Given the description of an element on the screen output the (x, y) to click on. 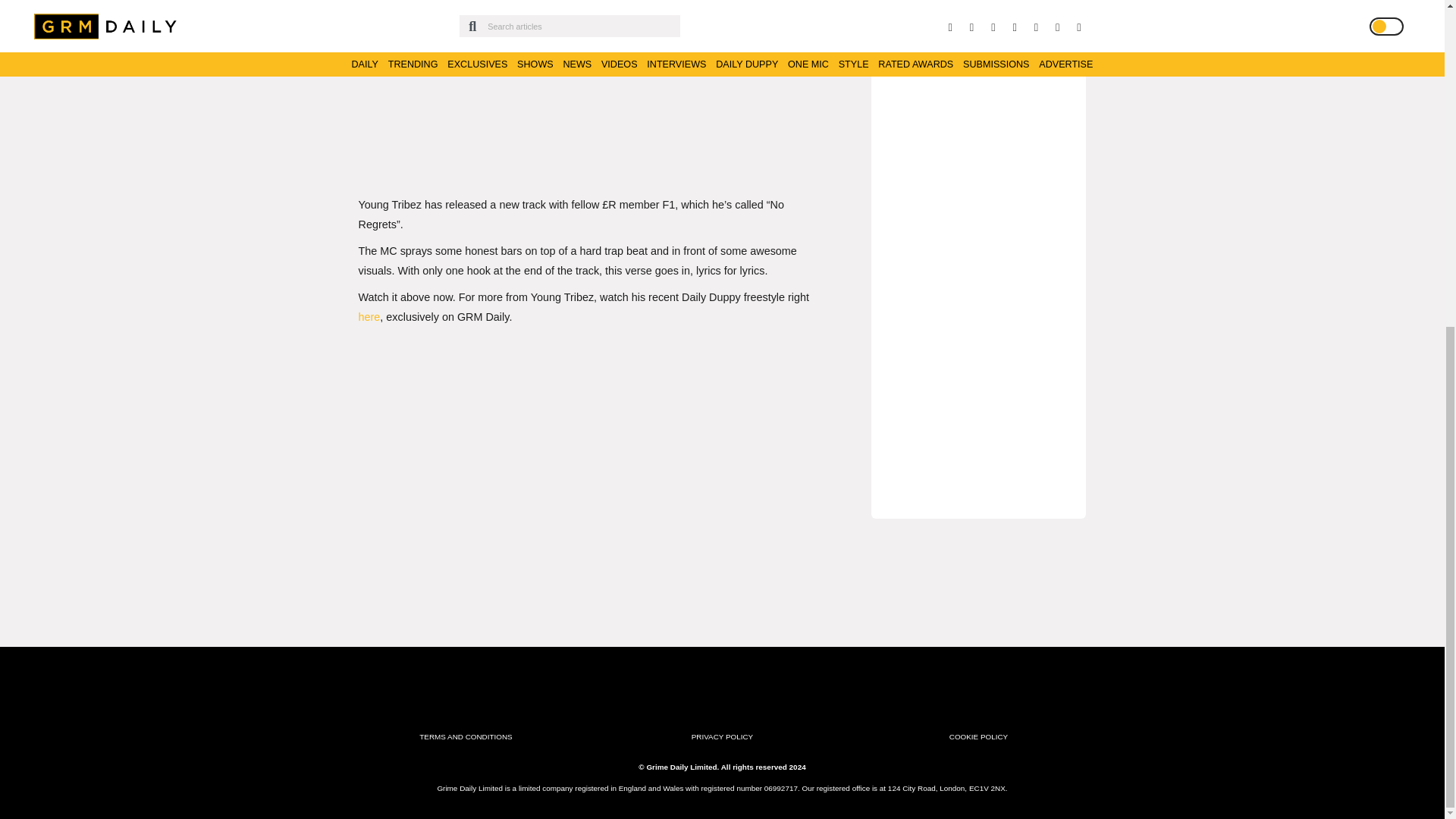
YouTube player (660, 79)
